Given the description of an element on the screen output the (x, y) to click on. 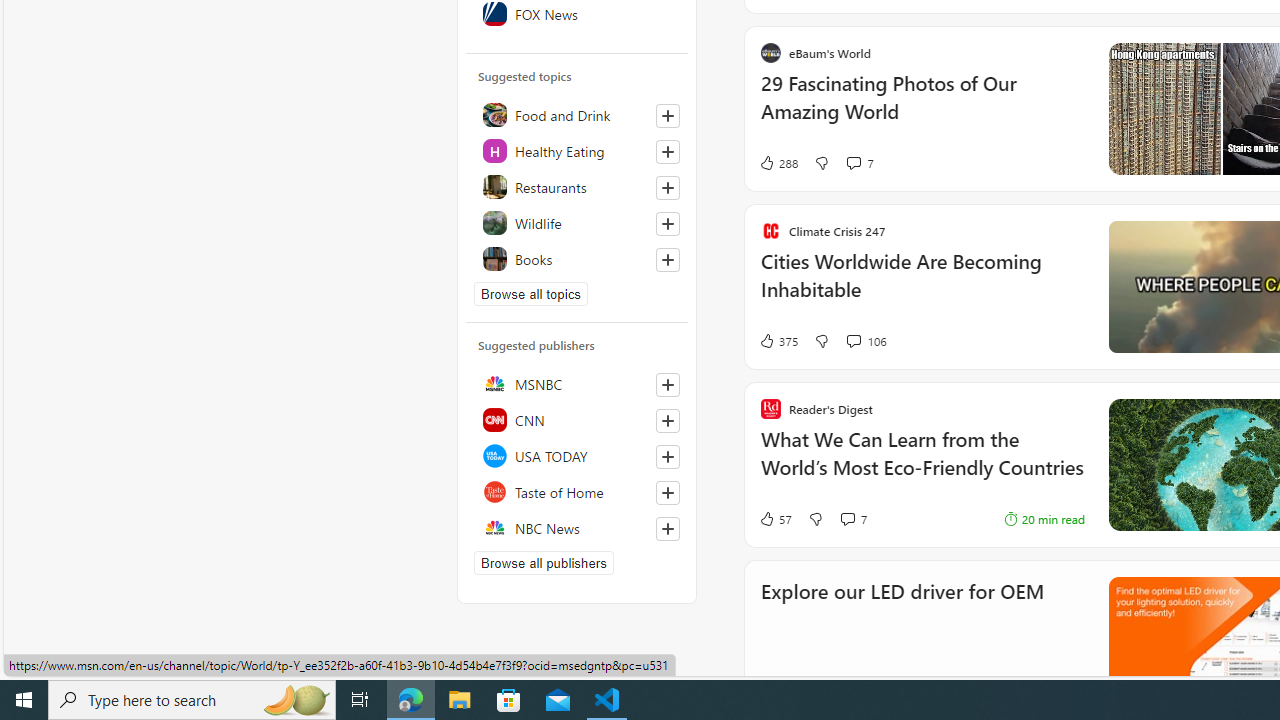
USA TODAY (577, 456)
Healthy Eating (577, 150)
CNN (577, 420)
Follow this source (667, 528)
375 Like (778, 340)
Books (577, 258)
Follow this source (667, 528)
View comments 7 Comment (847, 519)
Cities Worldwide Are Becoming Inhabitable (922, 285)
Taste of Home (577, 492)
57 Like (775, 518)
MSNBC (577, 384)
29 Fascinating Photos of Our Amazing World (922, 107)
